Given the description of an element on the screen output the (x, y) to click on. 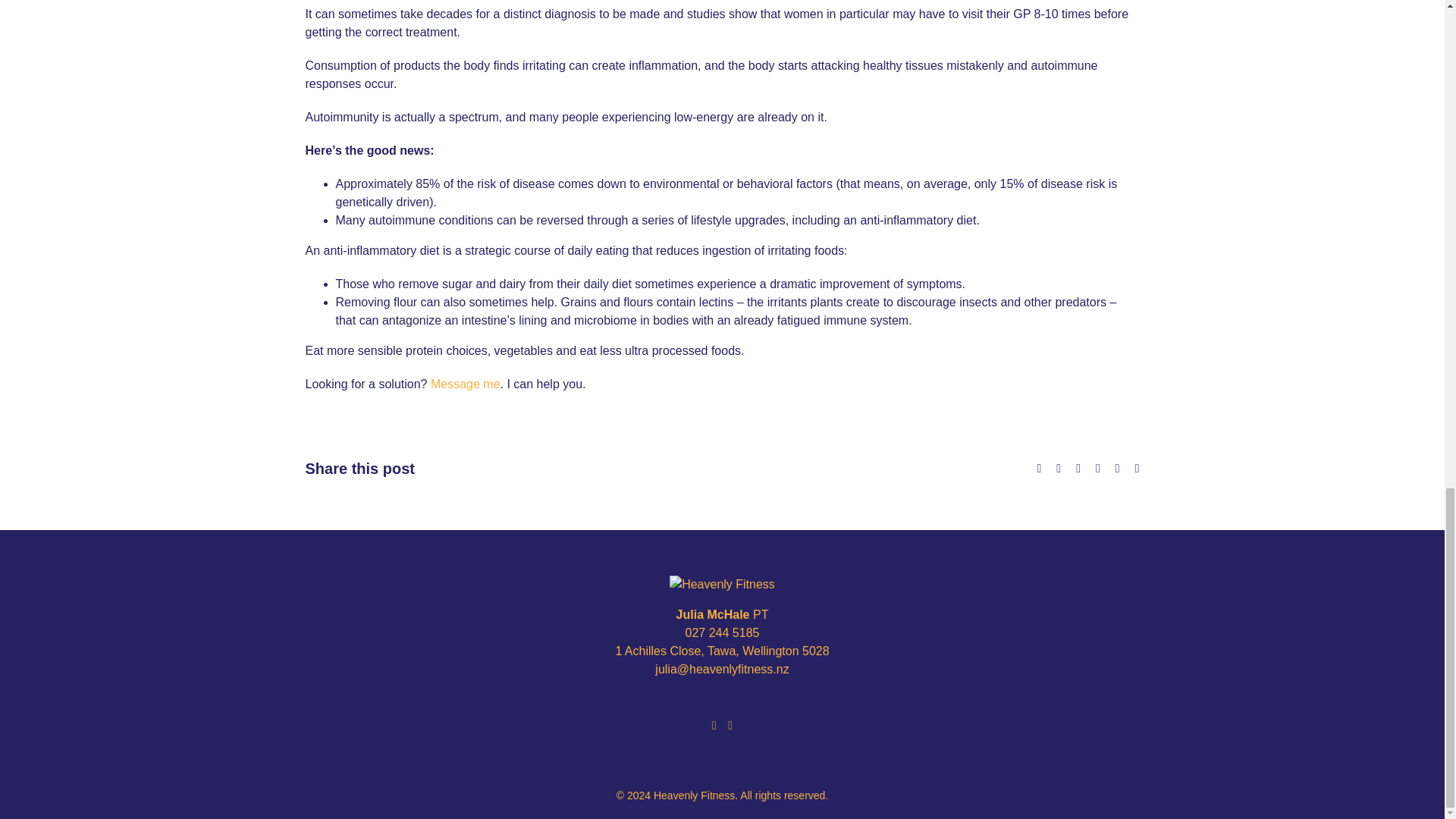
Message me (465, 383)
1 Achilles Close, Tawa, Wellington 5028 (721, 650)
